Given the description of an element on the screen output the (x, y) to click on. 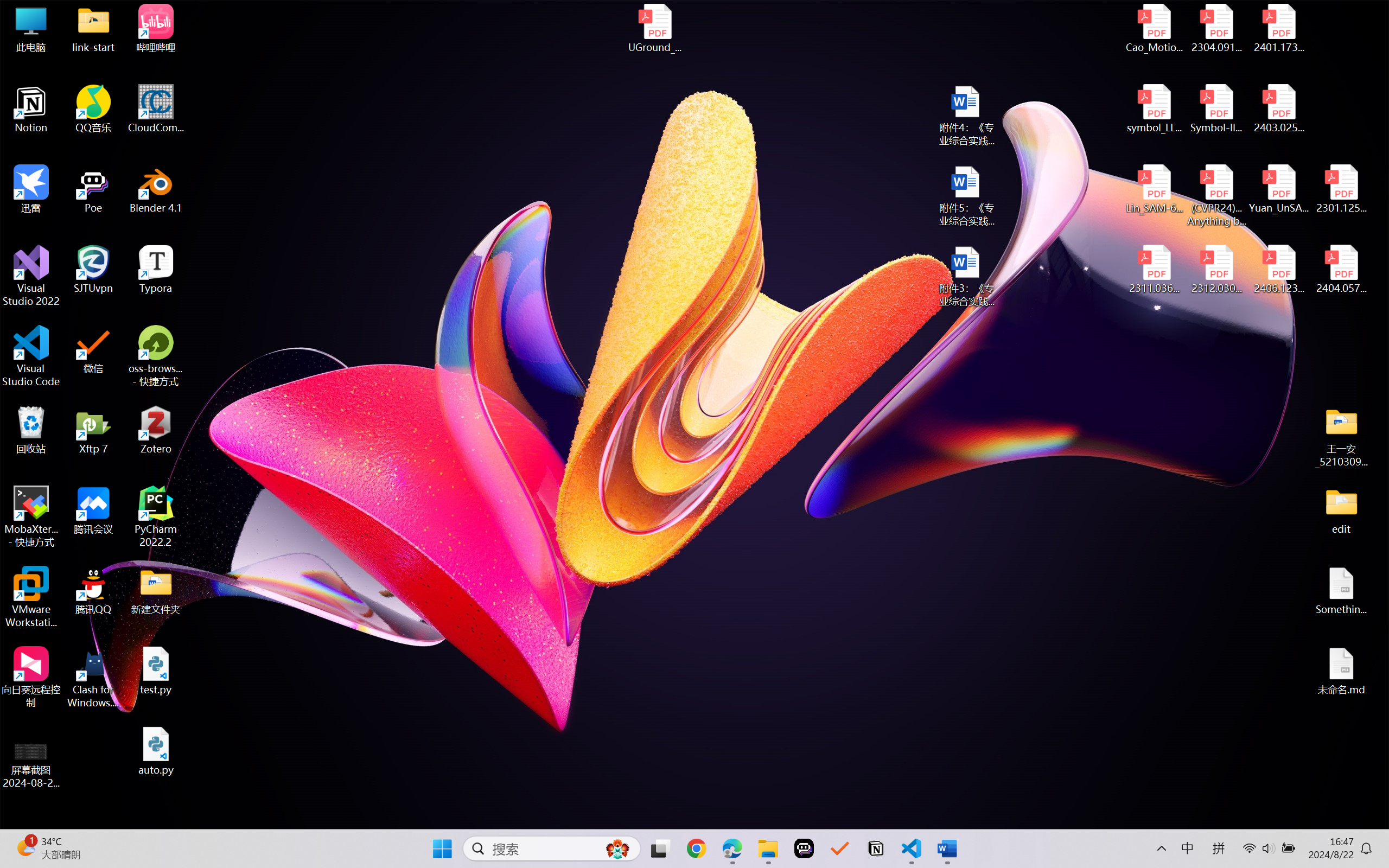
Generate Docstring (608, 256)
Codeium: Refactor (437, 256)
Mintlify Doc Writer (26, 534)
Google Chrome (696, 848)
